Given the description of an element on the screen output the (x, y) to click on. 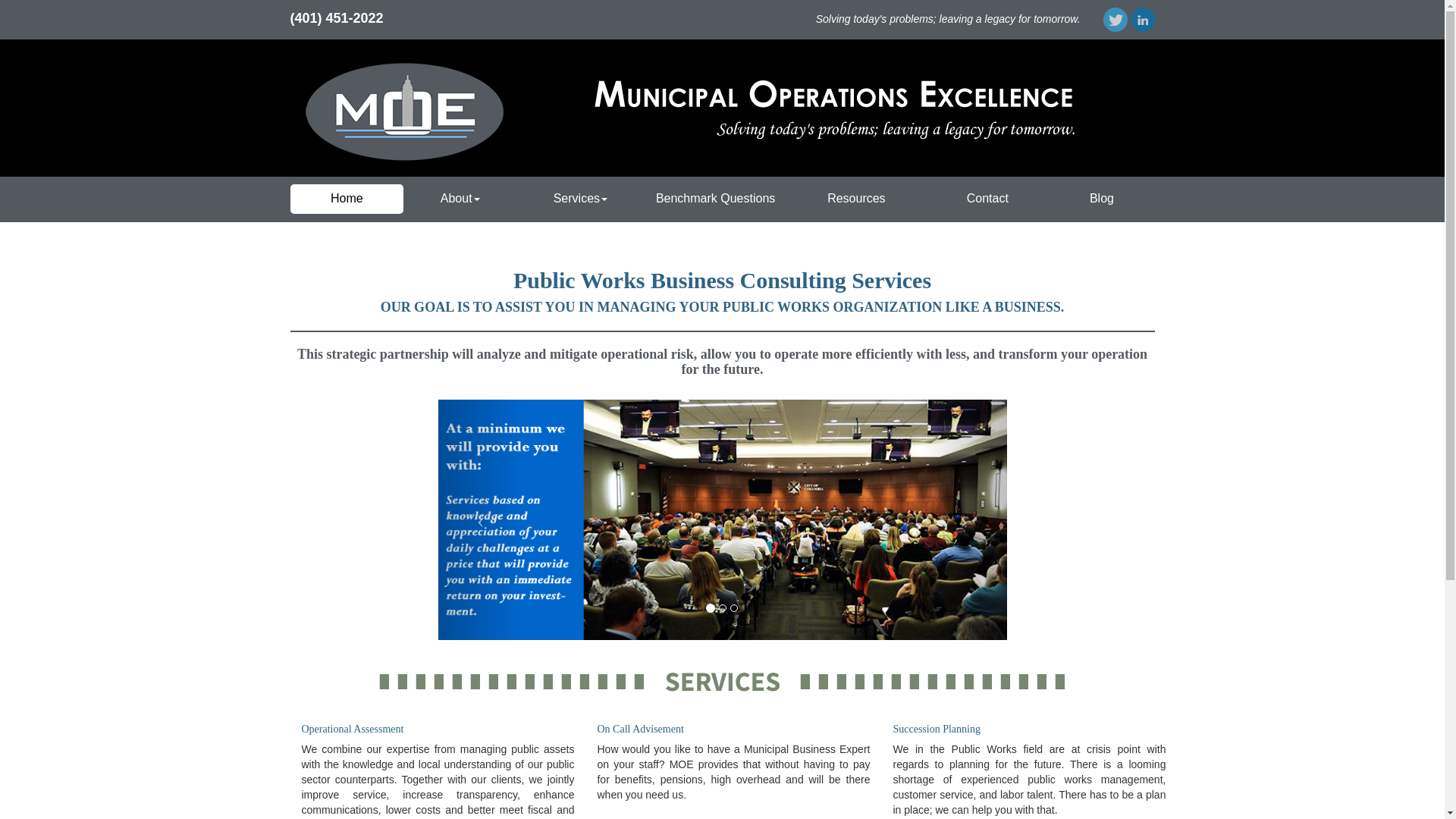
Home (346, 198)
Resources (856, 198)
About (459, 198)
Blog (1101, 198)
Benchmark Questions (716, 198)
Services (579, 198)
Contact (987, 198)
